Given the description of an element on the screen output the (x, y) to click on. 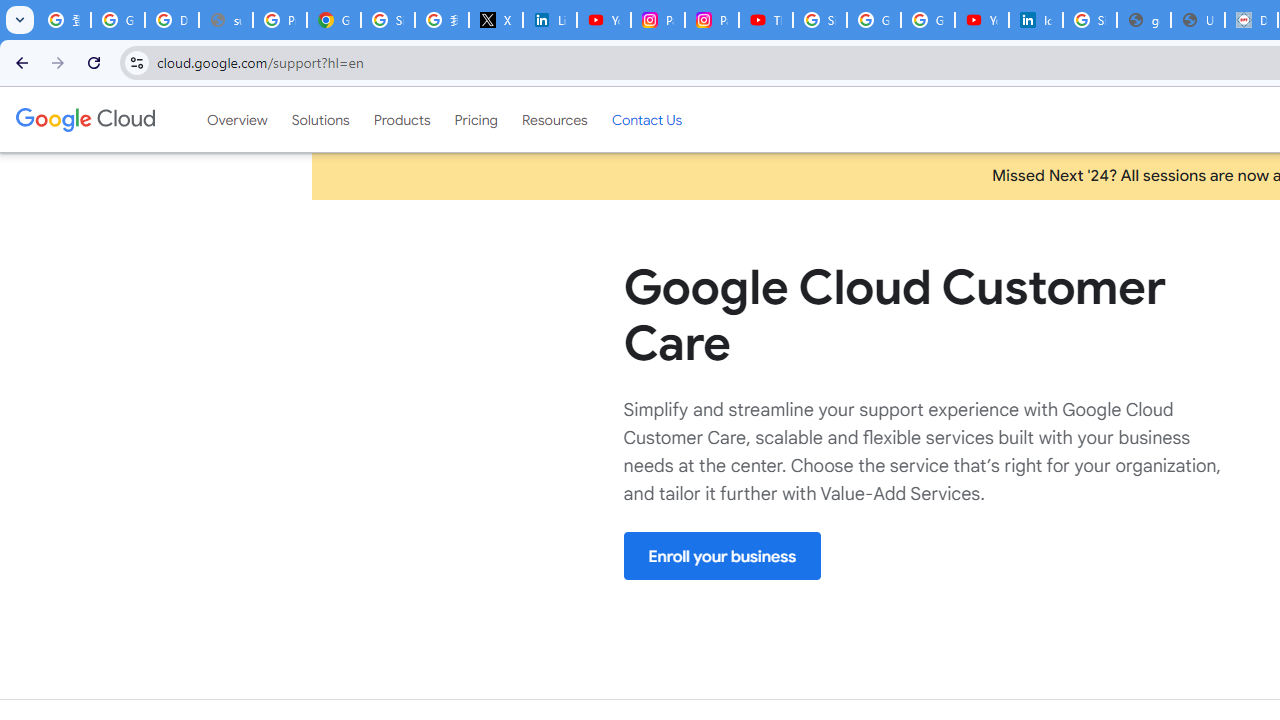
Google Cloud (84, 119)
Sign in - Google Accounts (387, 20)
Resources (553, 119)
